Given the description of an element on the screen output the (x, y) to click on. 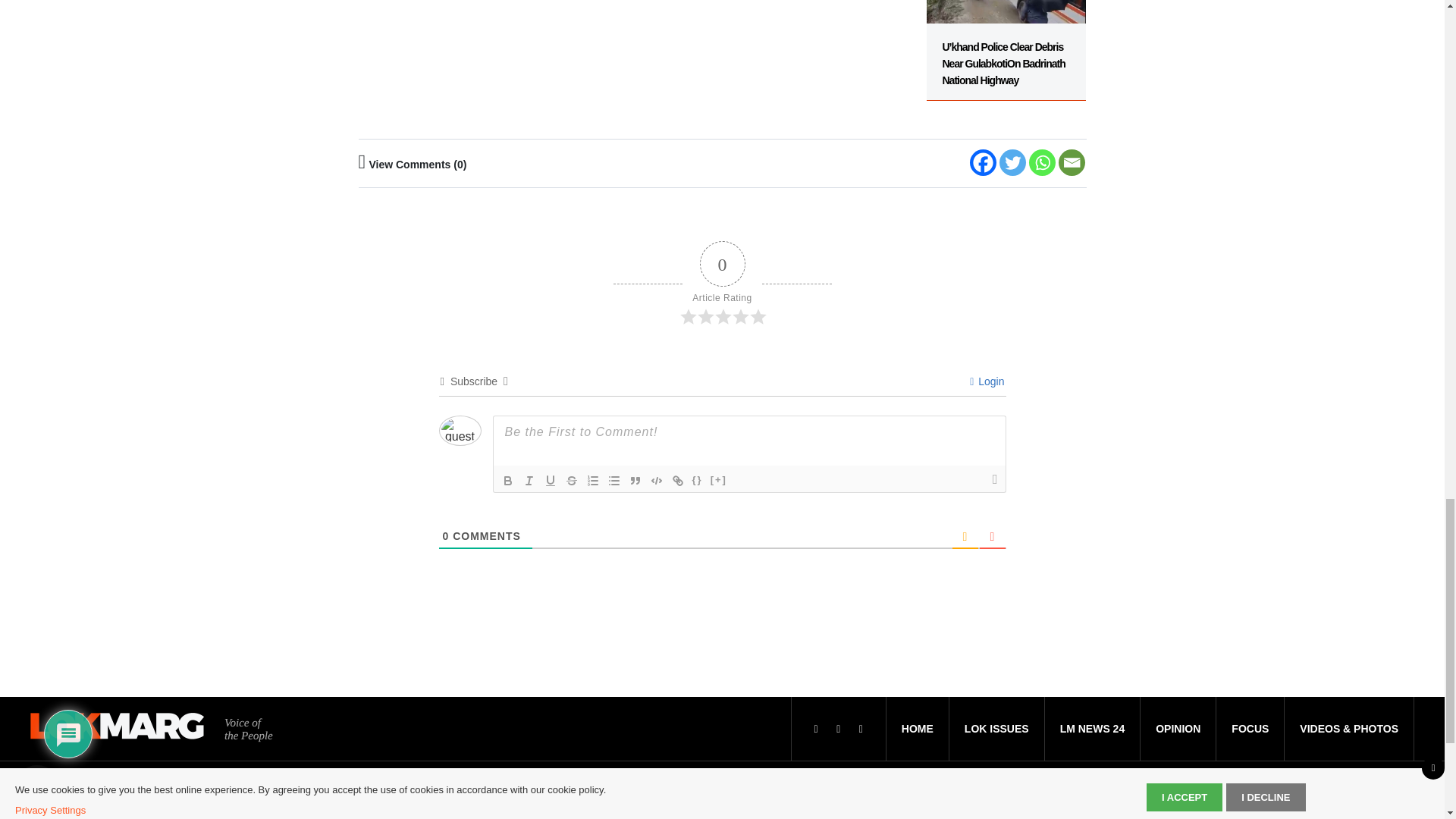
Login (986, 381)
